Given the description of an element on the screen output the (x, y) to click on. 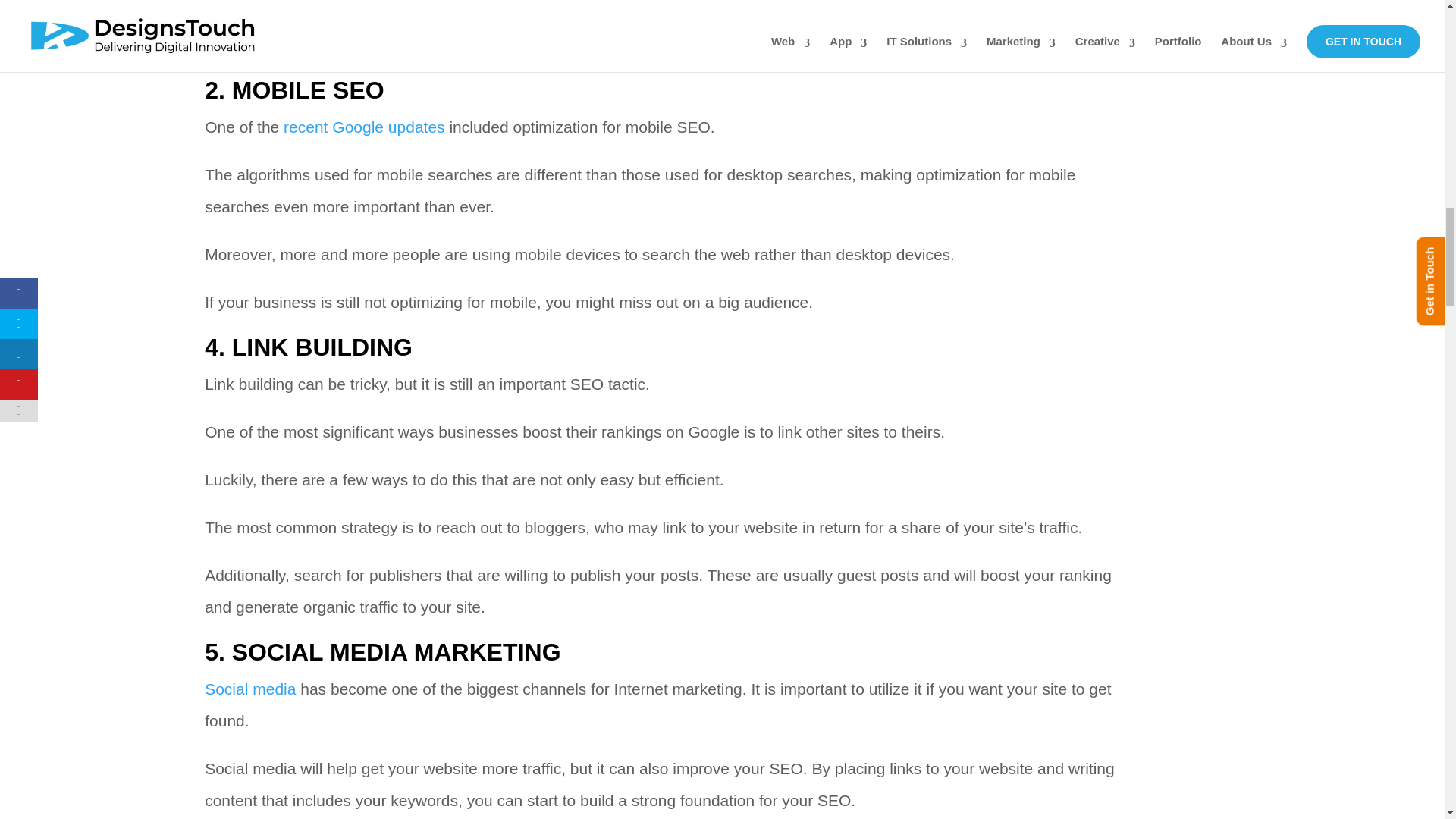
recent Google updates (363, 126)
Social media (250, 688)
check out this article! (585, 45)
